Given the description of an element on the screen output the (x, y) to click on. 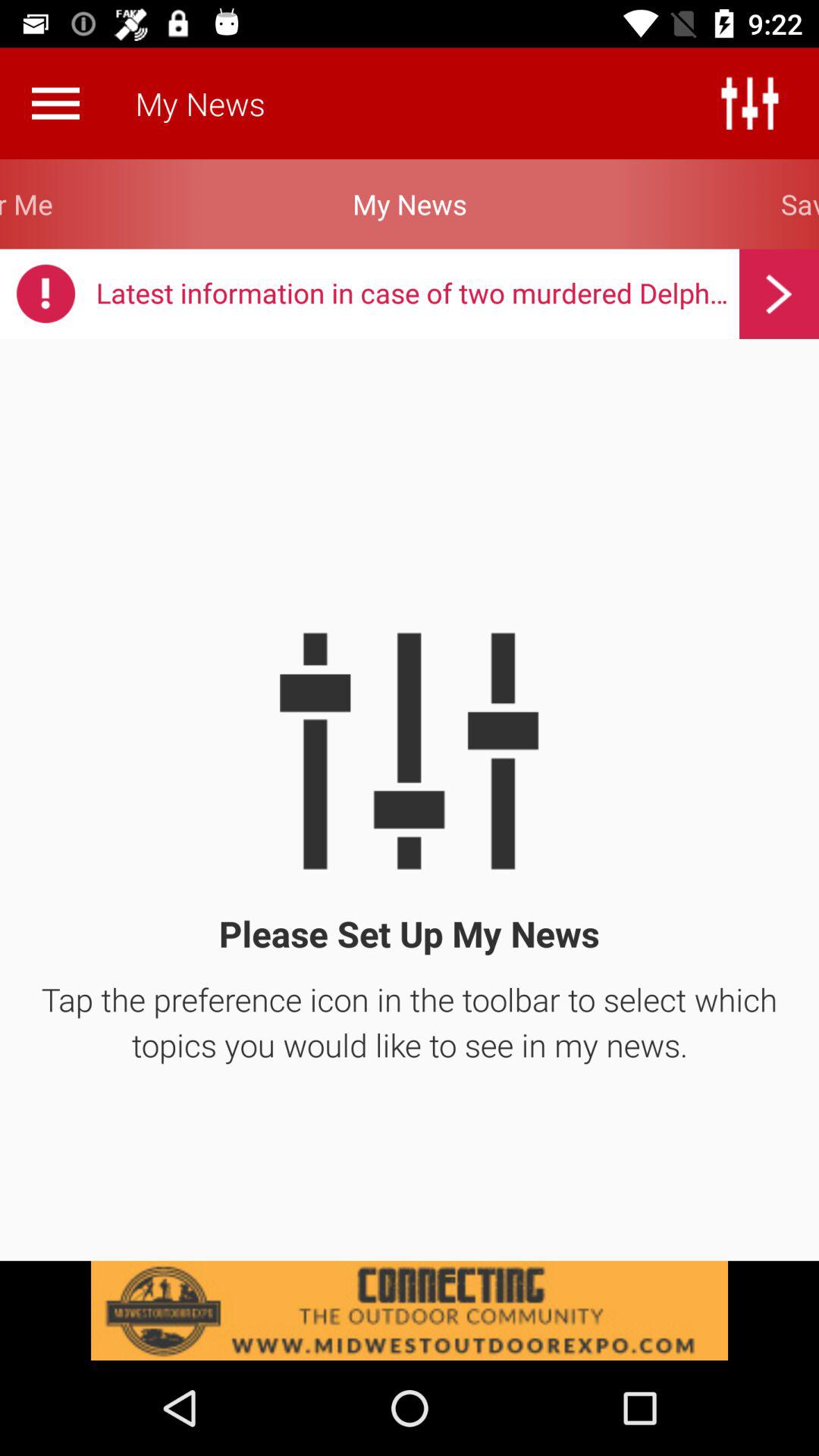
open menu (55, 103)
